Given the description of an element on the screen output the (x, y) to click on. 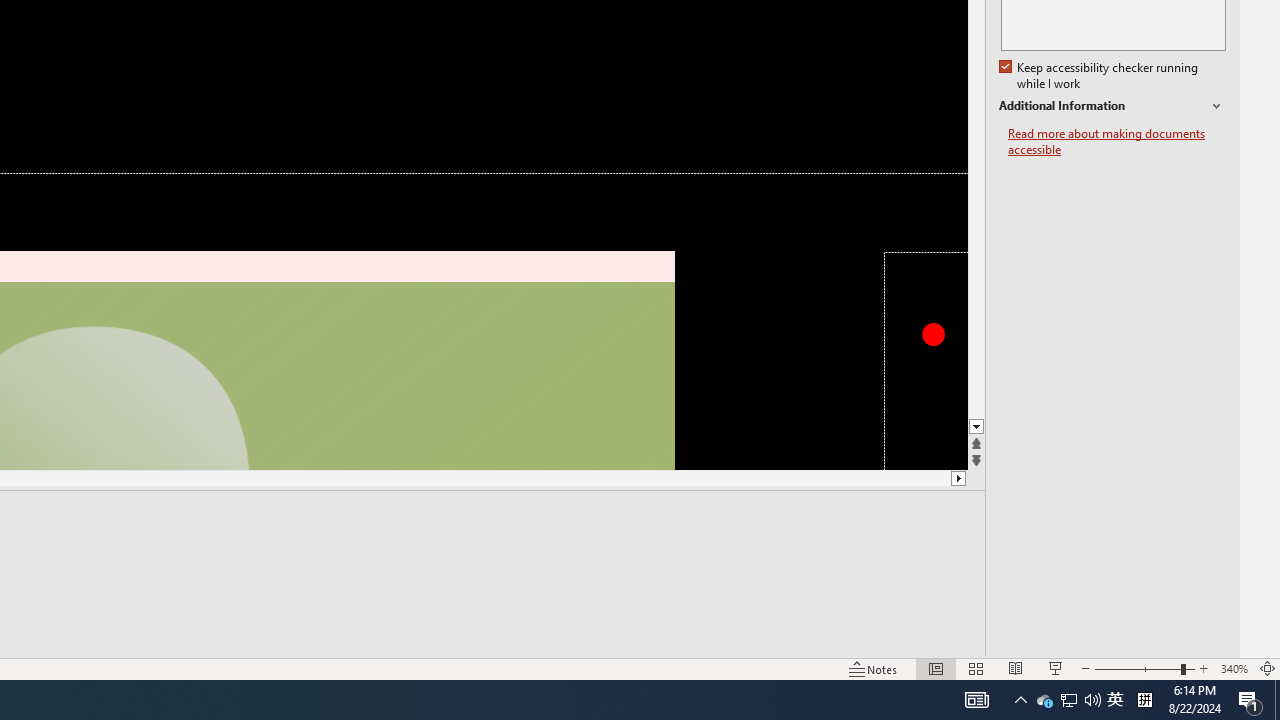
Read more about making documents accessible (1117, 142)
Additional Information (1112, 106)
Zoom 340% (1234, 668)
Keep accessibility checker running while I work (1099, 76)
